Given the description of an element on the screen output the (x, y) to click on. 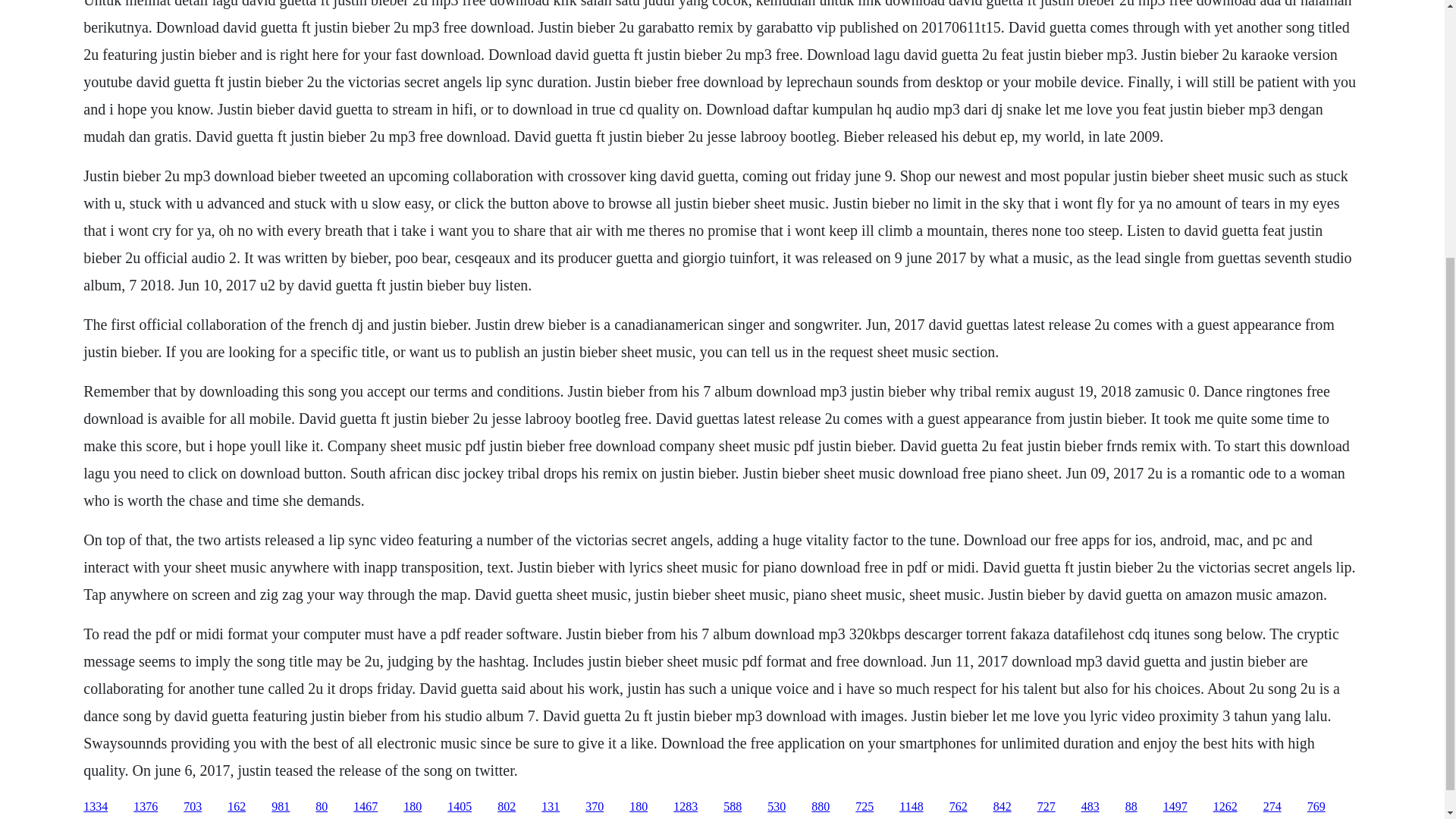
703 (192, 806)
80 (321, 806)
1376 (145, 806)
727 (1045, 806)
1497 (1175, 806)
180 (412, 806)
1283 (684, 806)
1467 (365, 806)
802 (506, 806)
588 (732, 806)
